Given the description of an element on the screen output the (x, y) to click on. 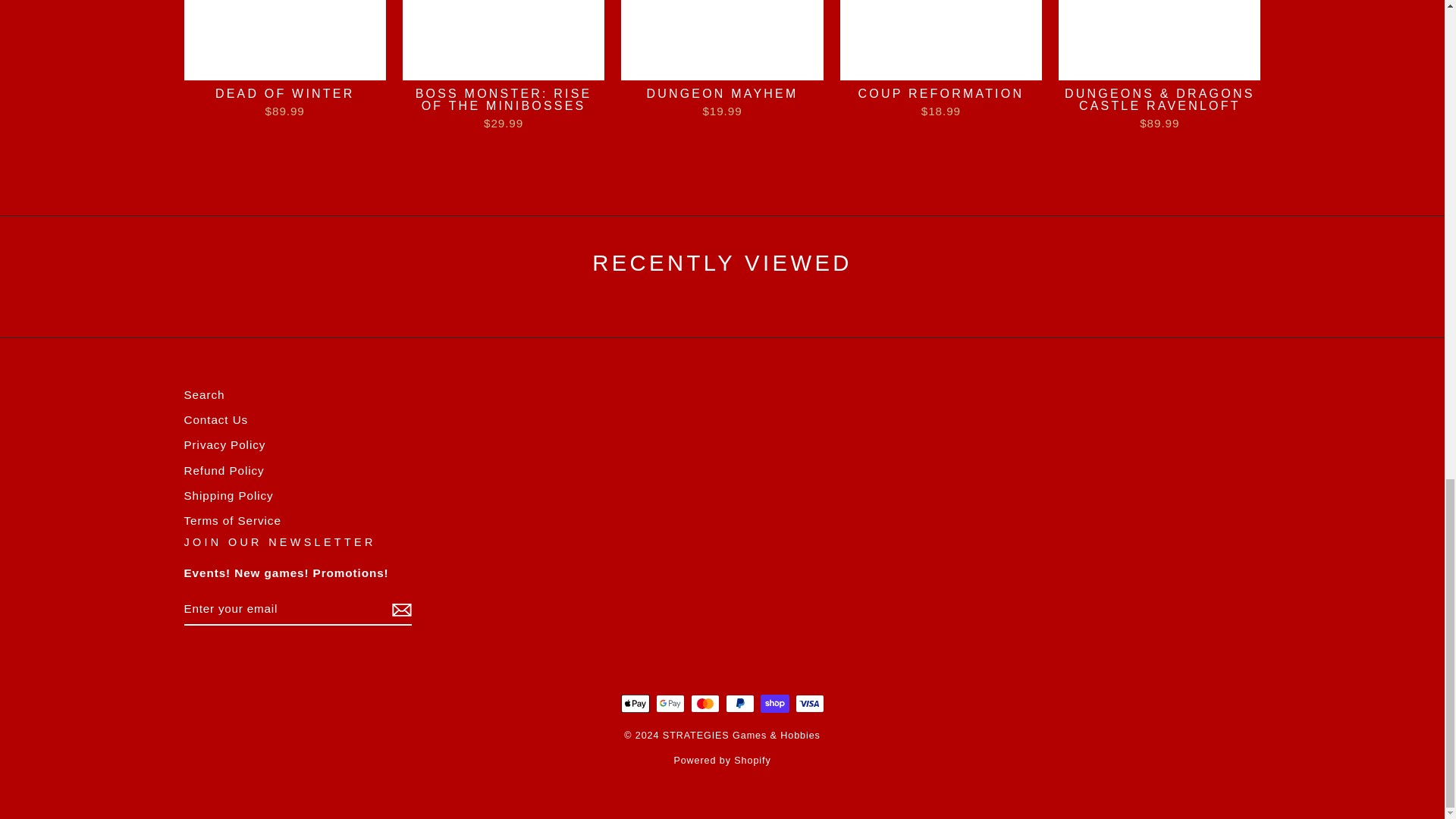
Google Pay (669, 703)
Shop Pay (774, 703)
Visa (809, 703)
PayPal (739, 703)
Apple Pay (634, 703)
Mastercard (704, 703)
